Given the description of an element on the screen output the (x, y) to click on. 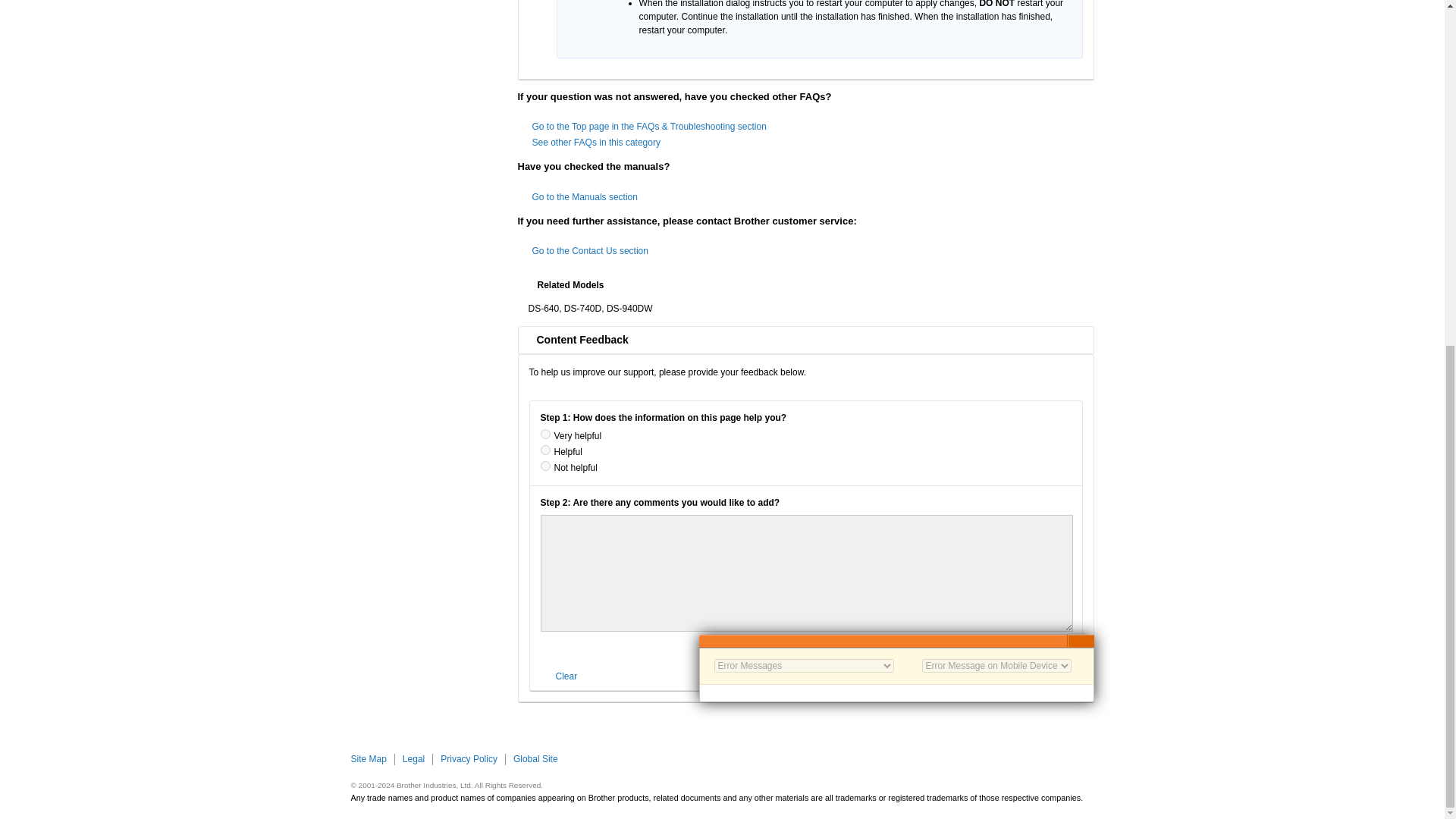
not helpful (545, 465)
Global Site (535, 758)
Submit (805, 675)
very helpful (545, 433)
Privacy Policy (469, 758)
Clear (559, 675)
Legal (414, 758)
Go to the Manuals section (584, 196)
helpful (545, 450)
Go to the Contact Us section (589, 250)
